Given the description of an element on the screen output the (x, y) to click on. 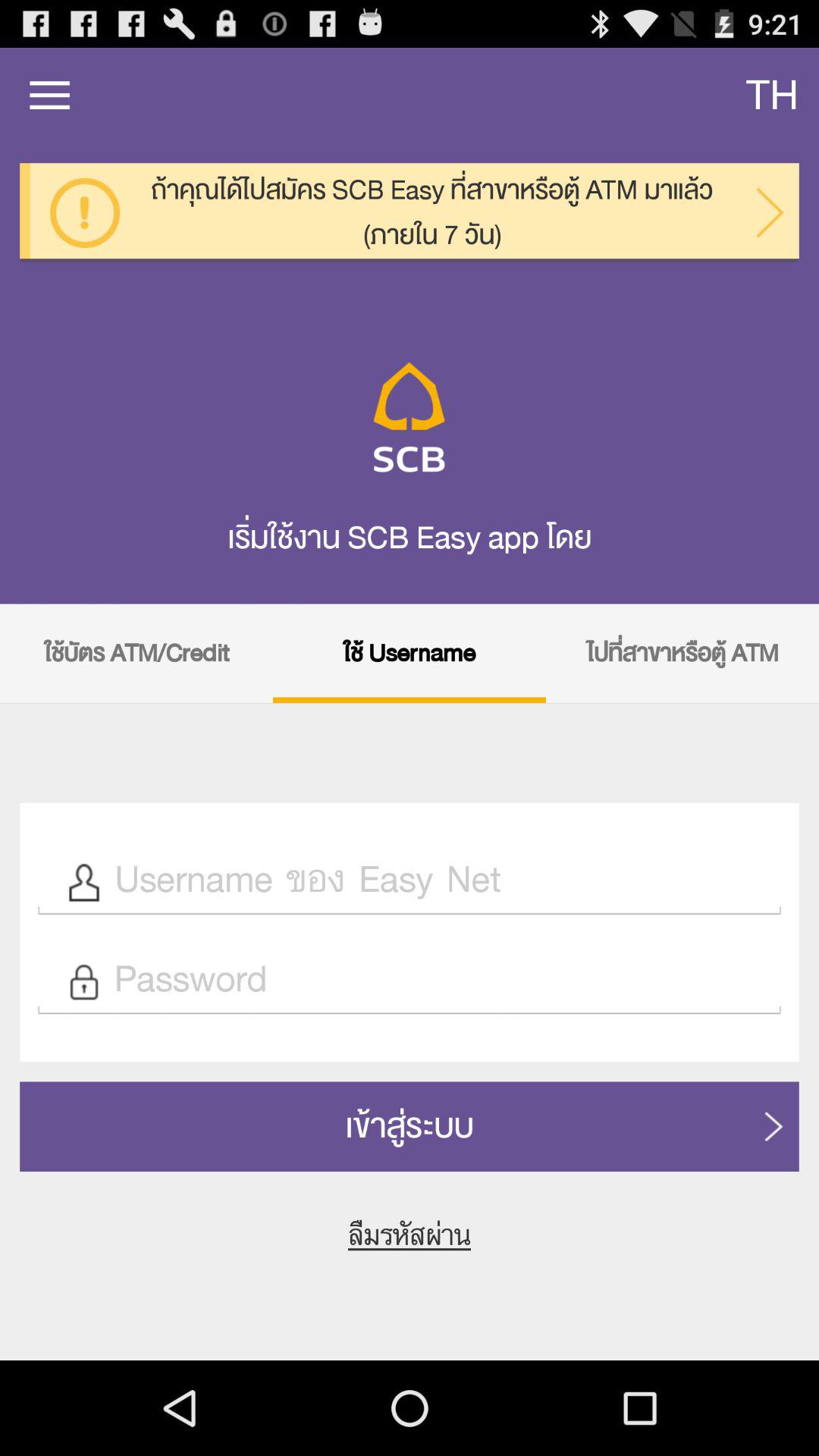
enter password text field (439, 981)
